Given the description of an element on the screen output the (x, y) to click on. 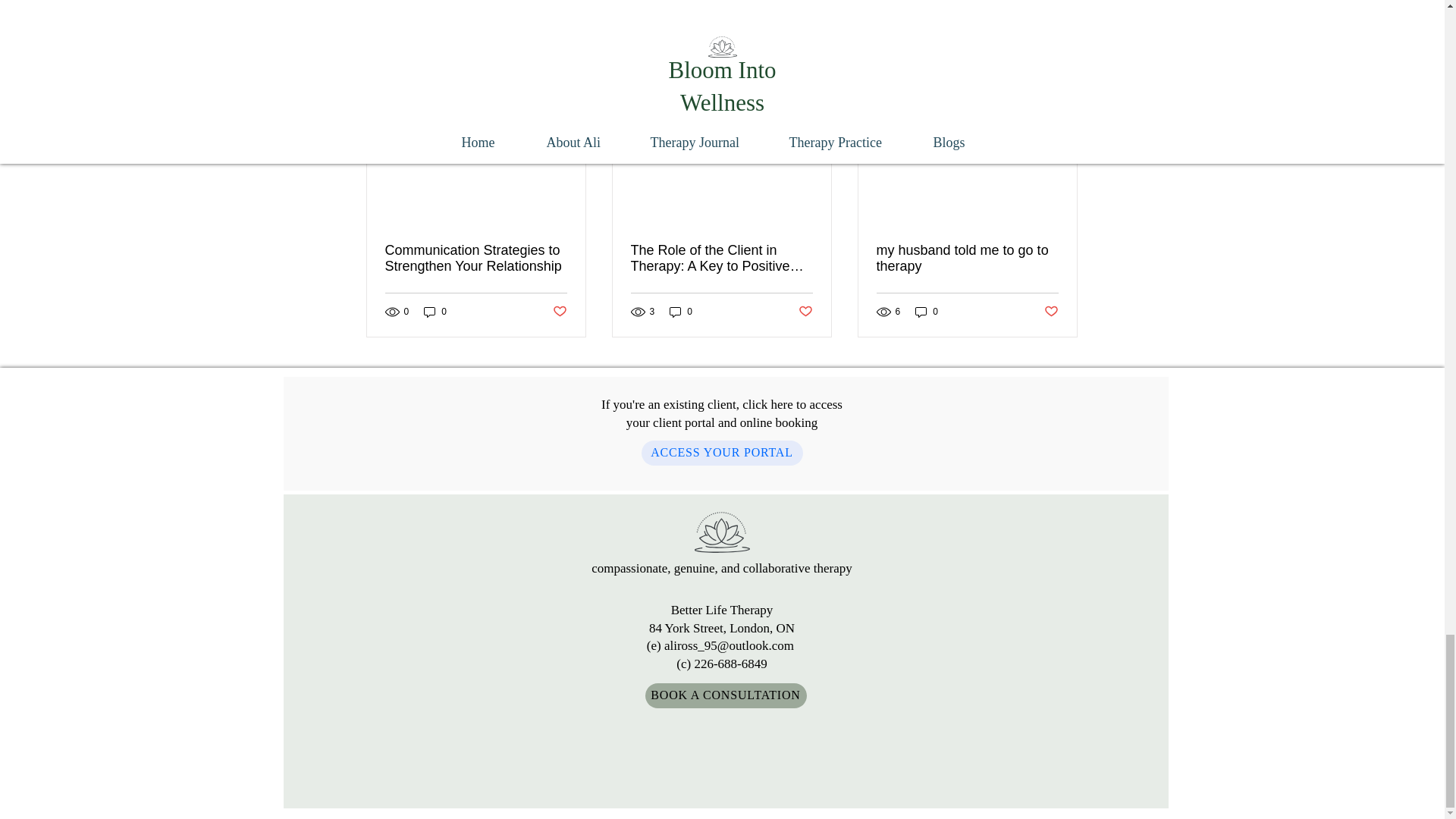
0 (435, 310)
ACCESS YOUR PORTAL (722, 453)
Post not marked as liked (1050, 311)
BOOK A CONSULTATION (725, 695)
Post not marked as liked (804, 311)
0 (926, 310)
See All (1061, 74)
my husband told me to go to therapy (967, 258)
0 (681, 310)
